Given the description of an element on the screen output the (x, y) to click on. 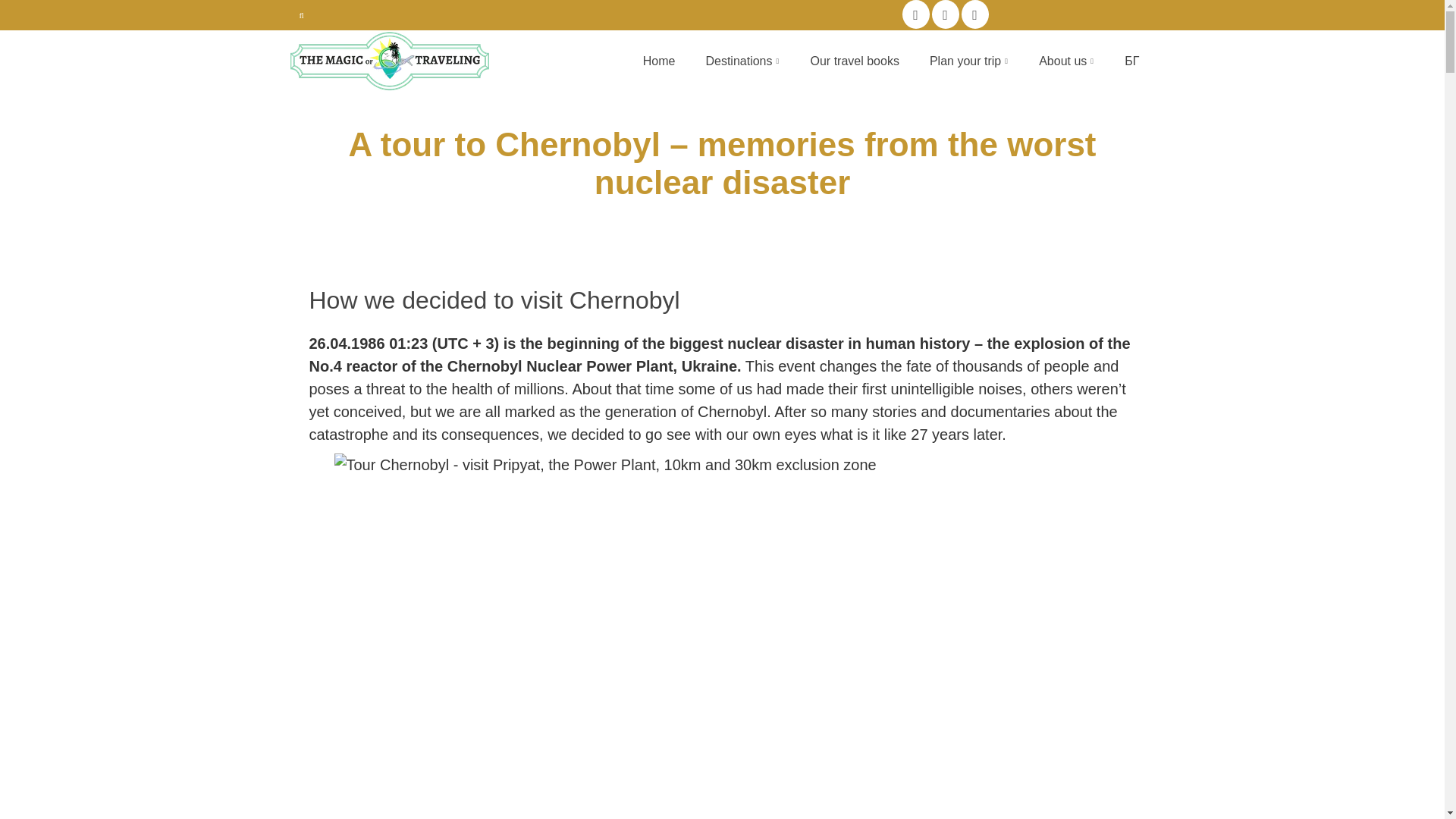
Home (658, 61)
Facebook (916, 14)
Destinations (742, 61)
Plan your trip (968, 61)
About us (1066, 61)
Our travel books (854, 61)
Instagram (944, 14)
YouTube (974, 14)
